Given the description of an element on the screen output the (x, y) to click on. 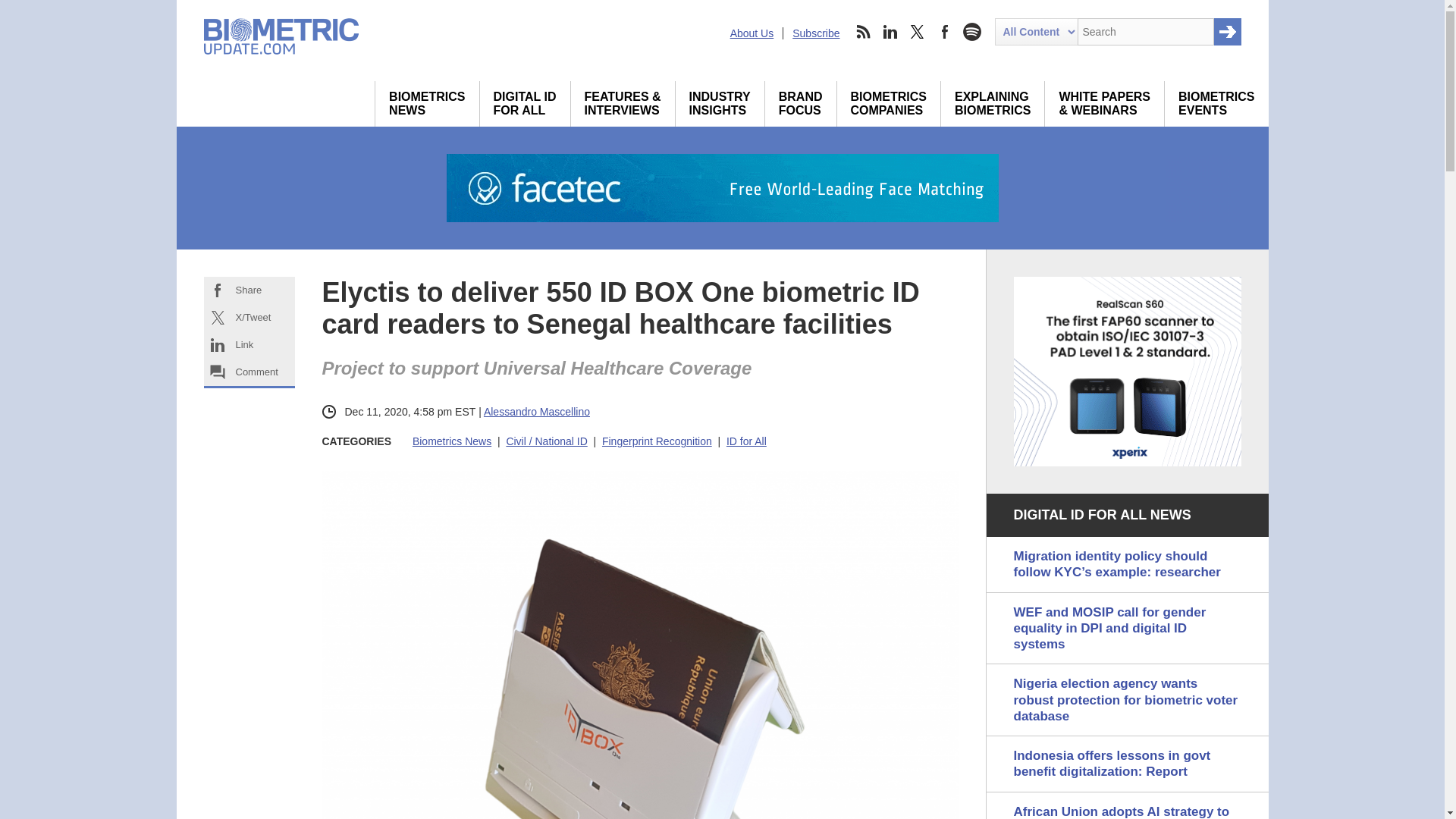
rss (862, 31)
twitter (917, 31)
spotify (971, 31)
Daily biometrics news and interviews (427, 103)
Biometrics and digital ID initiatives in developing nations (525, 103)
Trade shows featuring biometrics technology (1216, 103)
facebook (944, 31)
Subscribe (815, 33)
Biometrics marketplace brand focus (800, 103)
Features, interviews and special reports (622, 103)
Resources: White Papers, Webinars and Explainers (1104, 103)
3rd party ad content (1126, 371)
Biometrics companies, solutions and applications (888, 103)
Guest posts written by biometrics industry experts  (427, 103)
